Given the description of an element on the screen output the (x, y) to click on. 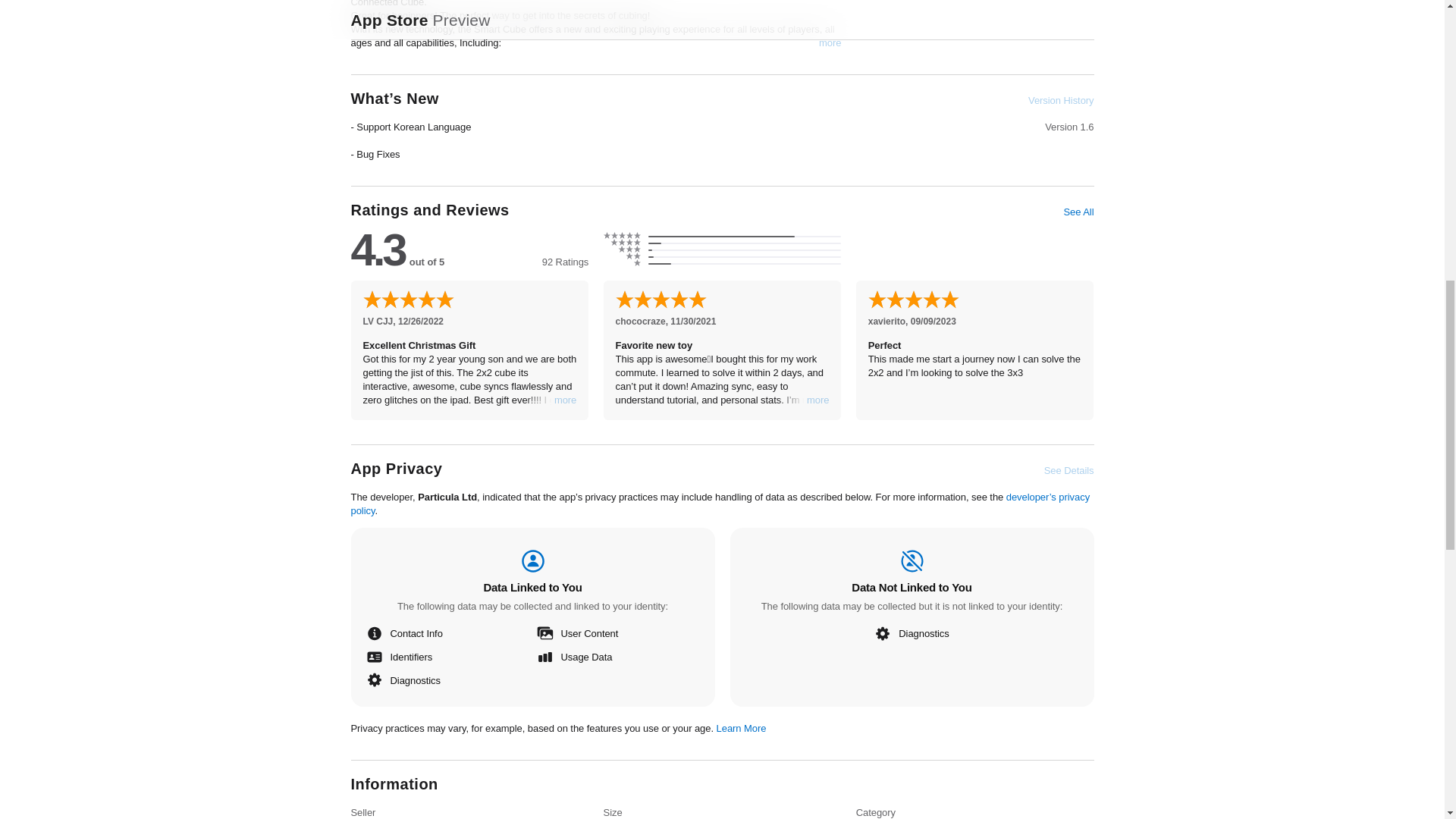
See Details (1068, 470)
Version History (1060, 100)
Learn More (741, 727)
more (565, 400)
See All (1077, 212)
more (817, 400)
more (829, 42)
